Given the description of an element on the screen output the (x, y) to click on. 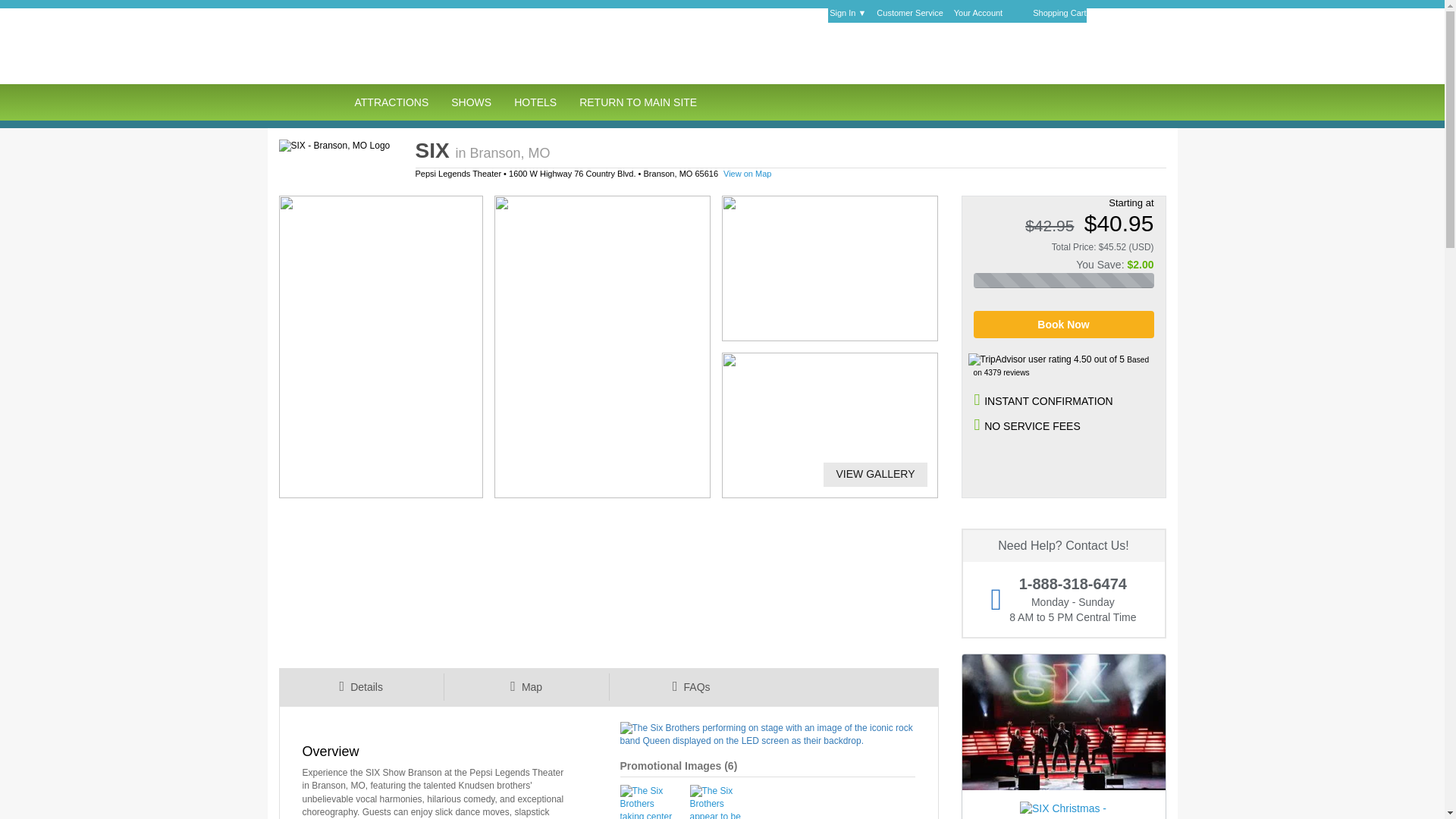
Book Now (1064, 324)
Map (526, 687)
VIEW GALLERY (869, 474)
ATTRACTIONS (390, 102)
RETURN TO MAIN SITE (637, 102)
Your Account (981, 14)
HOTELS (534, 102)
6 (730, 766)
View on Map (747, 173)
Customer Service (913, 14)
Details (361, 687)
FAQs (690, 687)
SHOWS (470, 102)
